Given the description of an element on the screen output the (x, y) to click on. 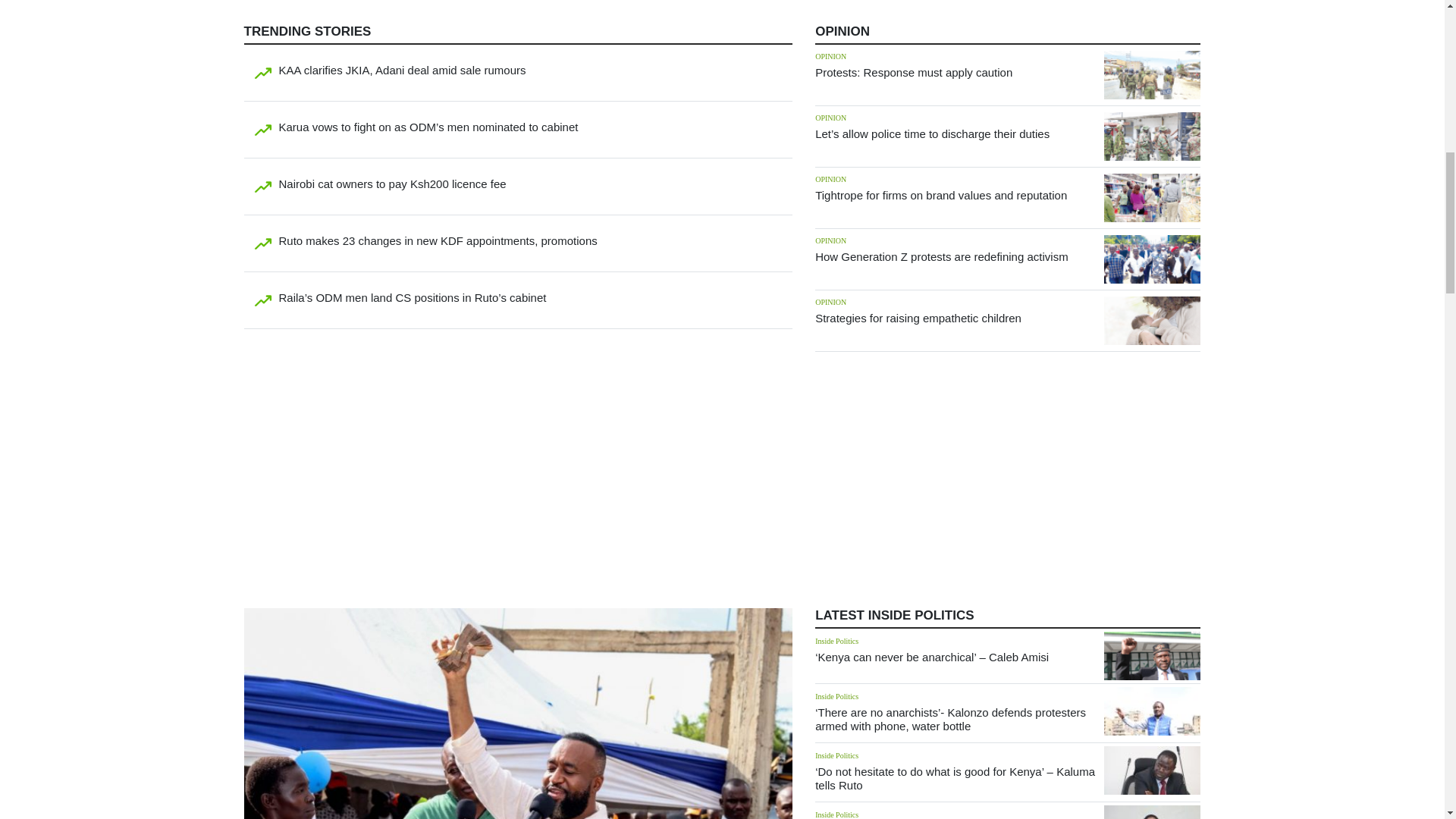
Ruto makes 23 changes in new KDF appointments, promotions (437, 240)
KAA clarifies JKIA, Adani deal amid sale rumours (402, 69)
Nairobi cat owners to pay Ksh200 licence fee (392, 183)
